Given the description of an element on the screen output the (x, y) to click on. 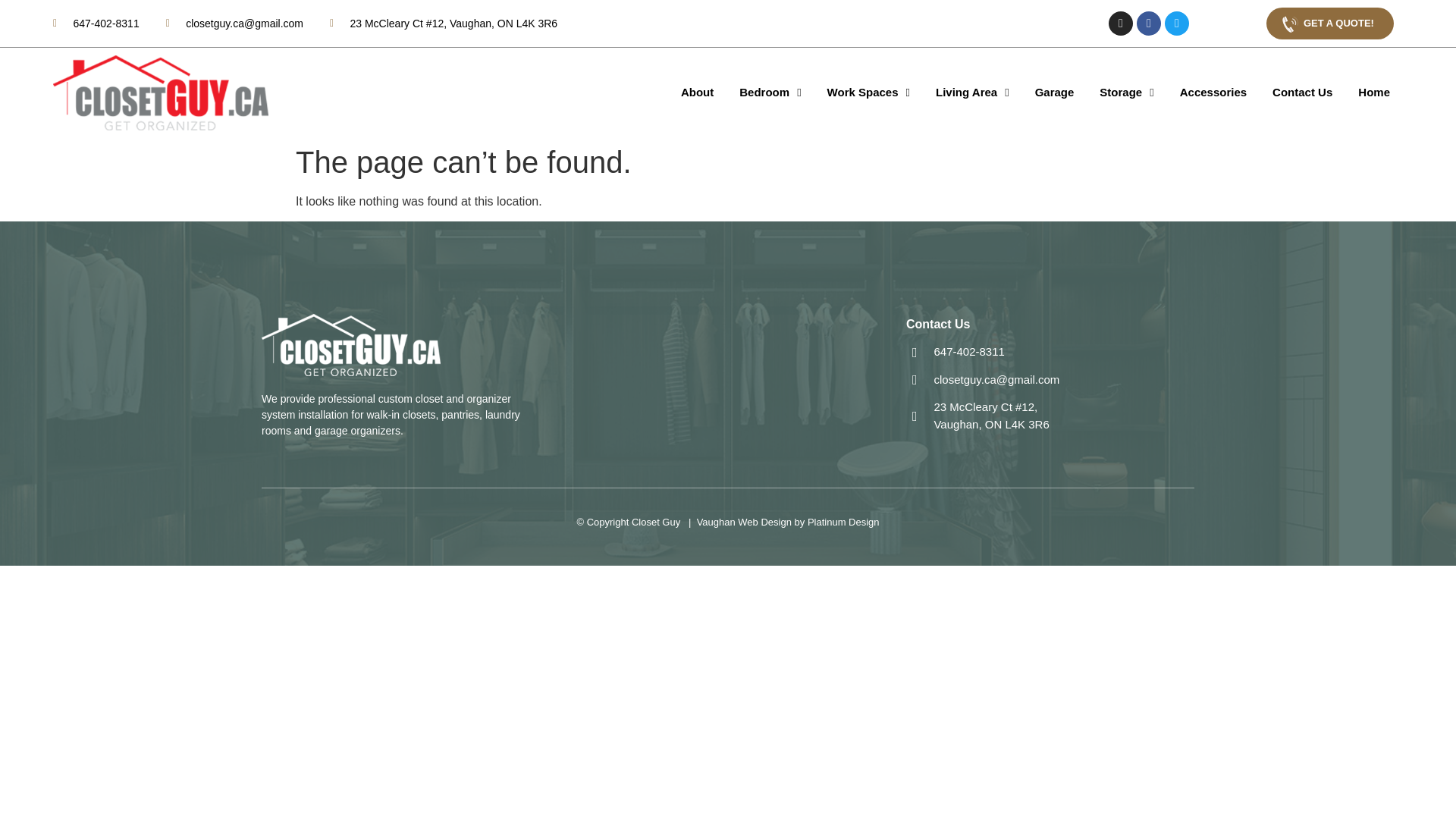
About (697, 92)
Garage (1054, 92)
Home (1374, 92)
Storage (1126, 92)
Bedroom (769, 92)
Work Spaces (868, 92)
647-402-8311 (95, 23)
Contact Us (1302, 92)
Living Area (972, 92)
GET A QUOTE! (1329, 23)
Accessories (1213, 92)
